Given the description of an element on the screen output the (x, y) to click on. 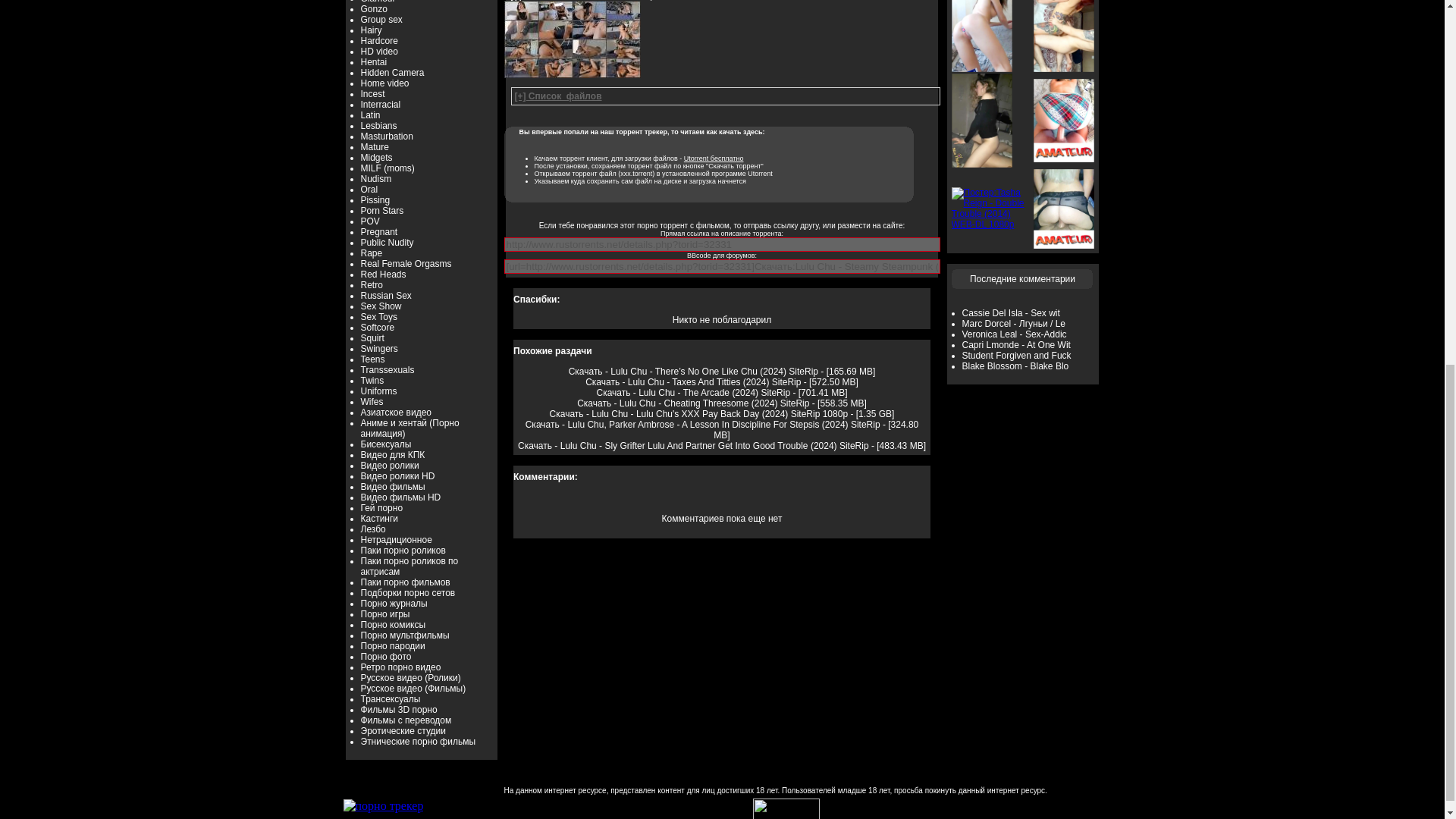
HD video (379, 50)
Hairy (371, 30)
Hardcore (379, 40)
Group sex (382, 19)
Gonzo (374, 9)
Glamour (378, 2)
